Given the description of an element on the screen output the (x, y) to click on. 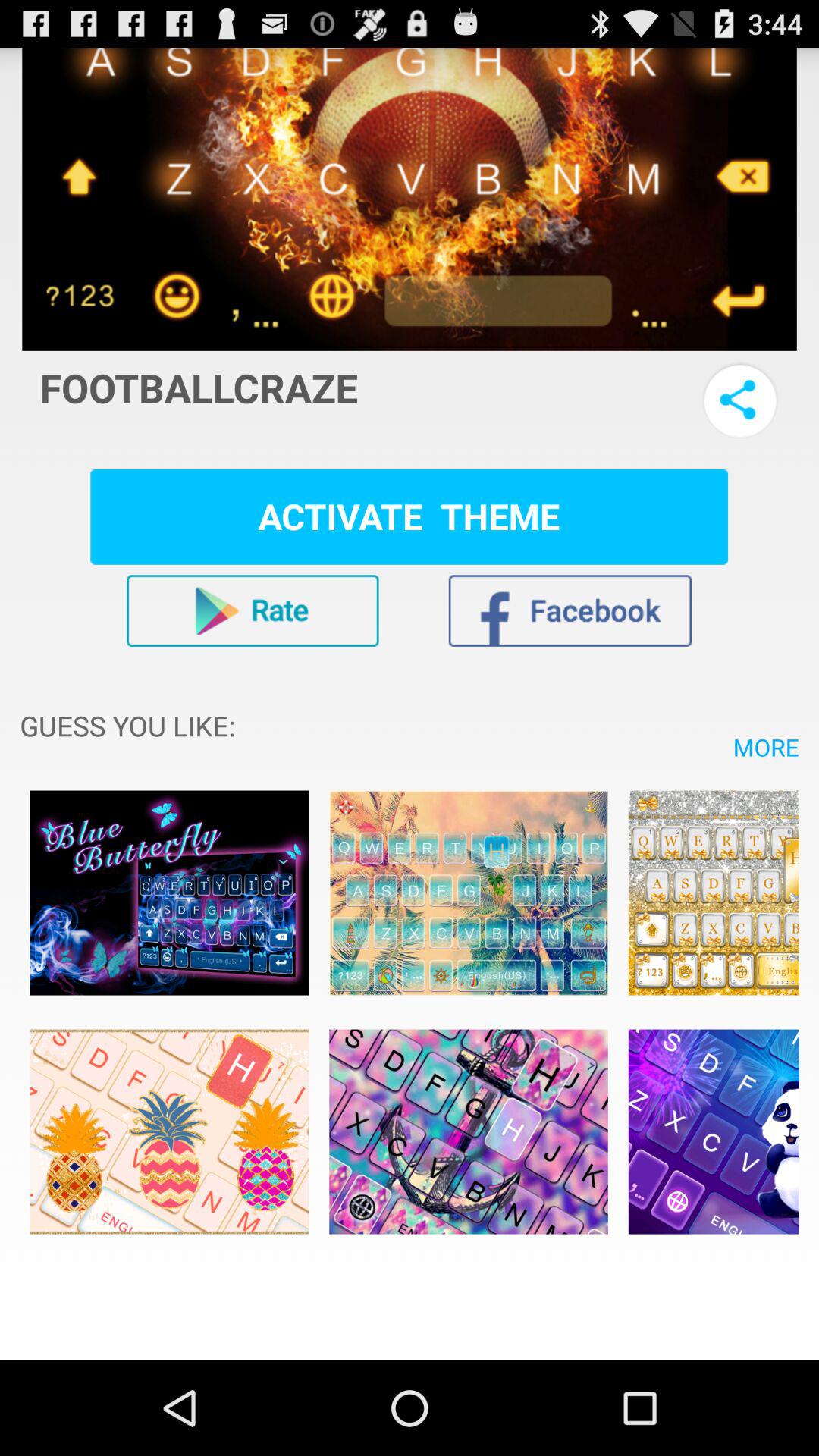
icon selection (713, 1131)
